Given the description of an element on the screen output the (x, y) to click on. 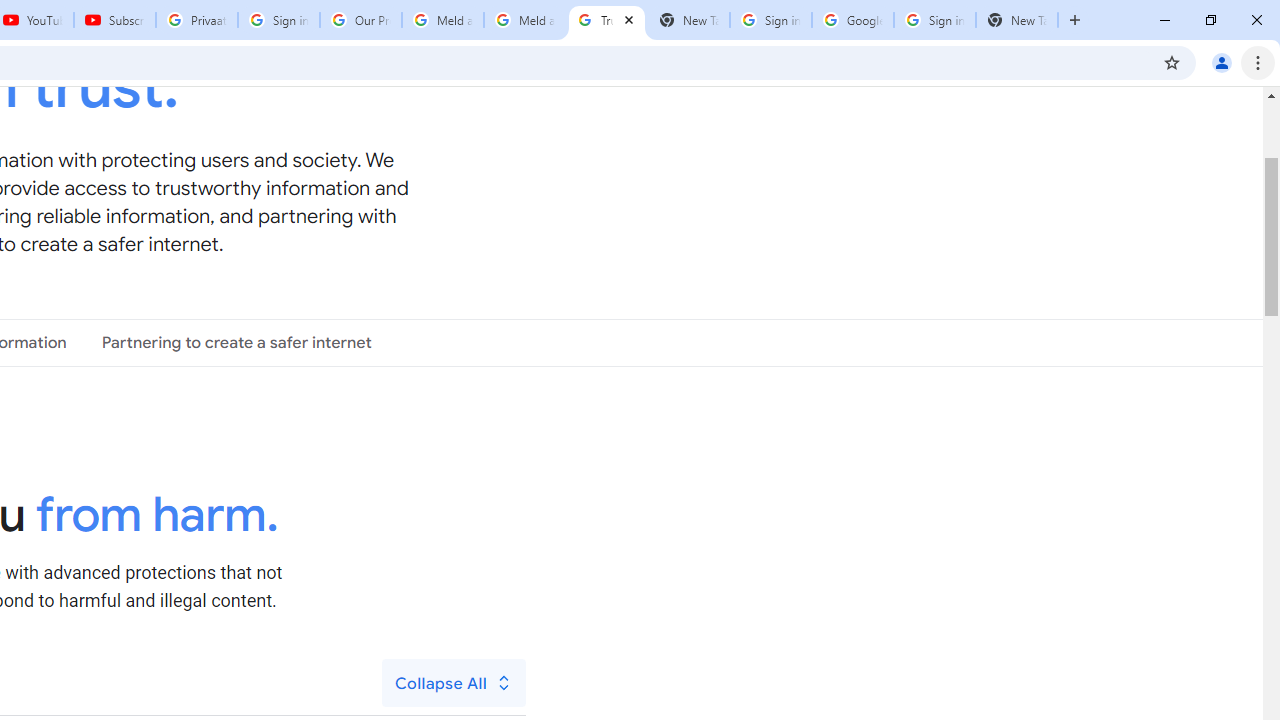
Subscriptions - YouTube (115, 20)
